Given the description of an element on the screen output the (x, y) to click on. 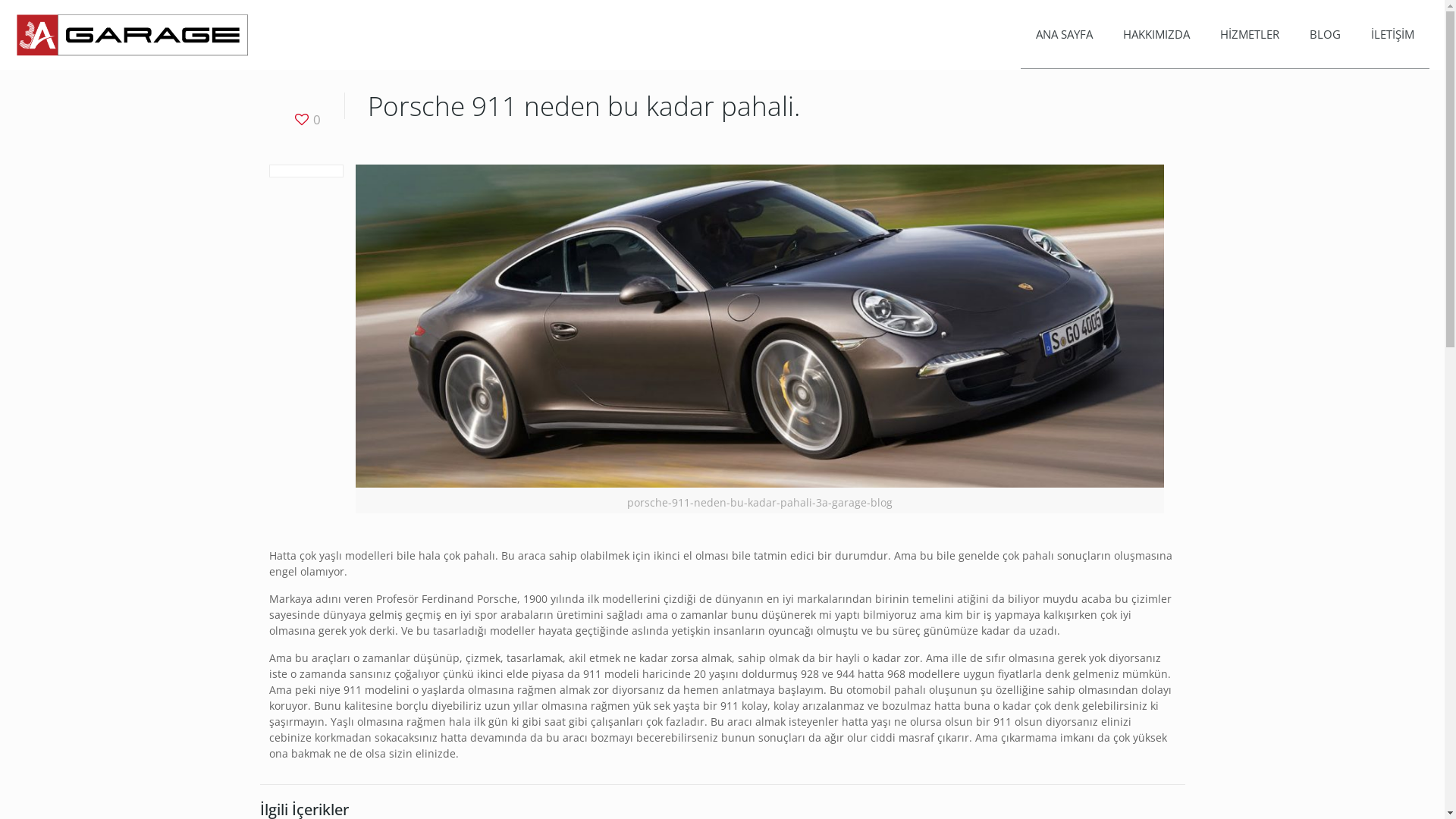
HAKKIMIZDA Element type: text (1155, 34)
ANA SAYFA Element type: text (1063, 34)
3A Garage Element type: hover (132, 34)
0 Element type: text (305, 119)
BLOG Element type: text (1324, 34)
